Given the description of an element on the screen output the (x, y) to click on. 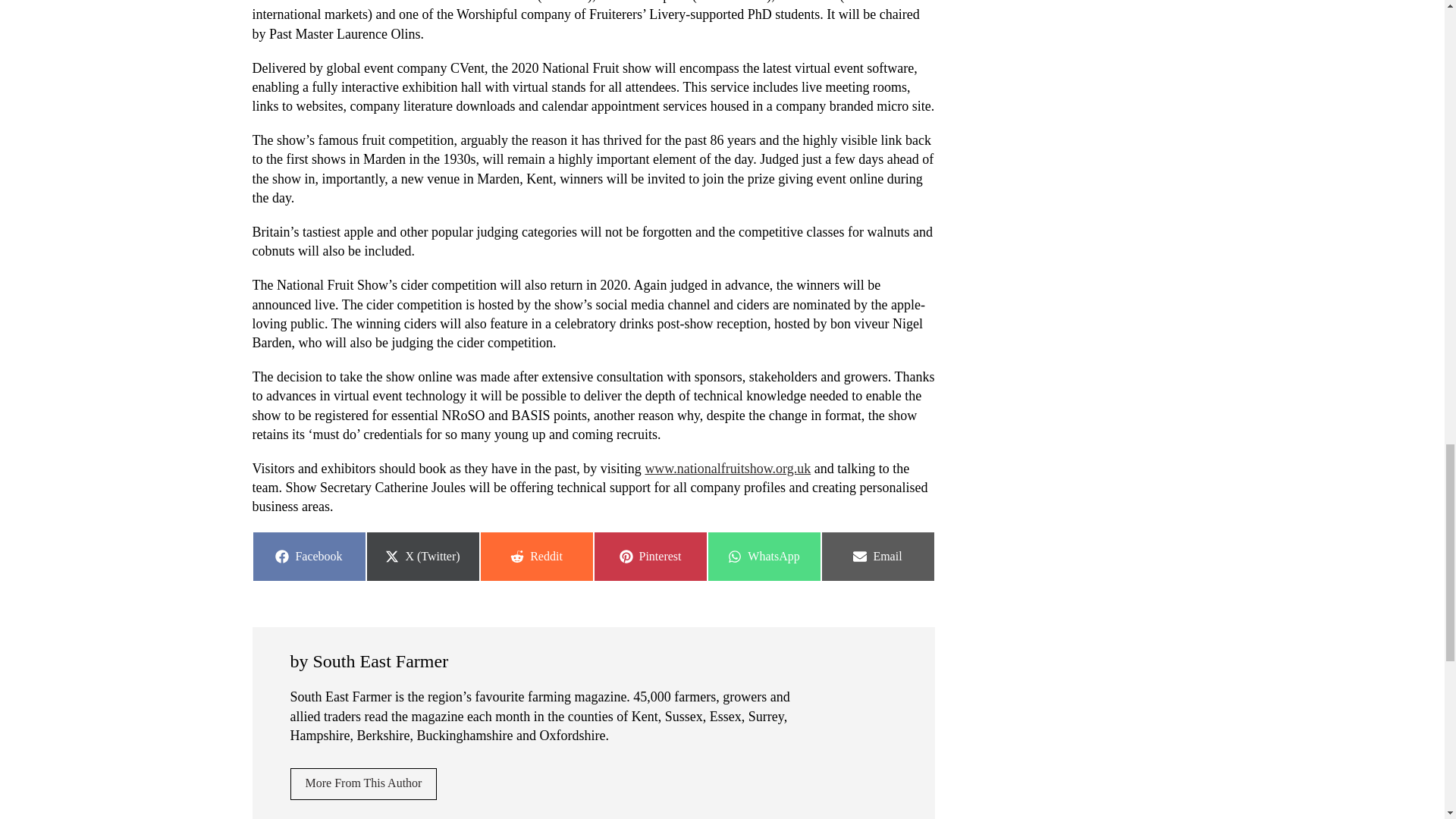
www.nationalfruitshow.org.uk (535, 556)
More From This Author (727, 468)
